Given the description of an element on the screen output the (x, y) to click on. 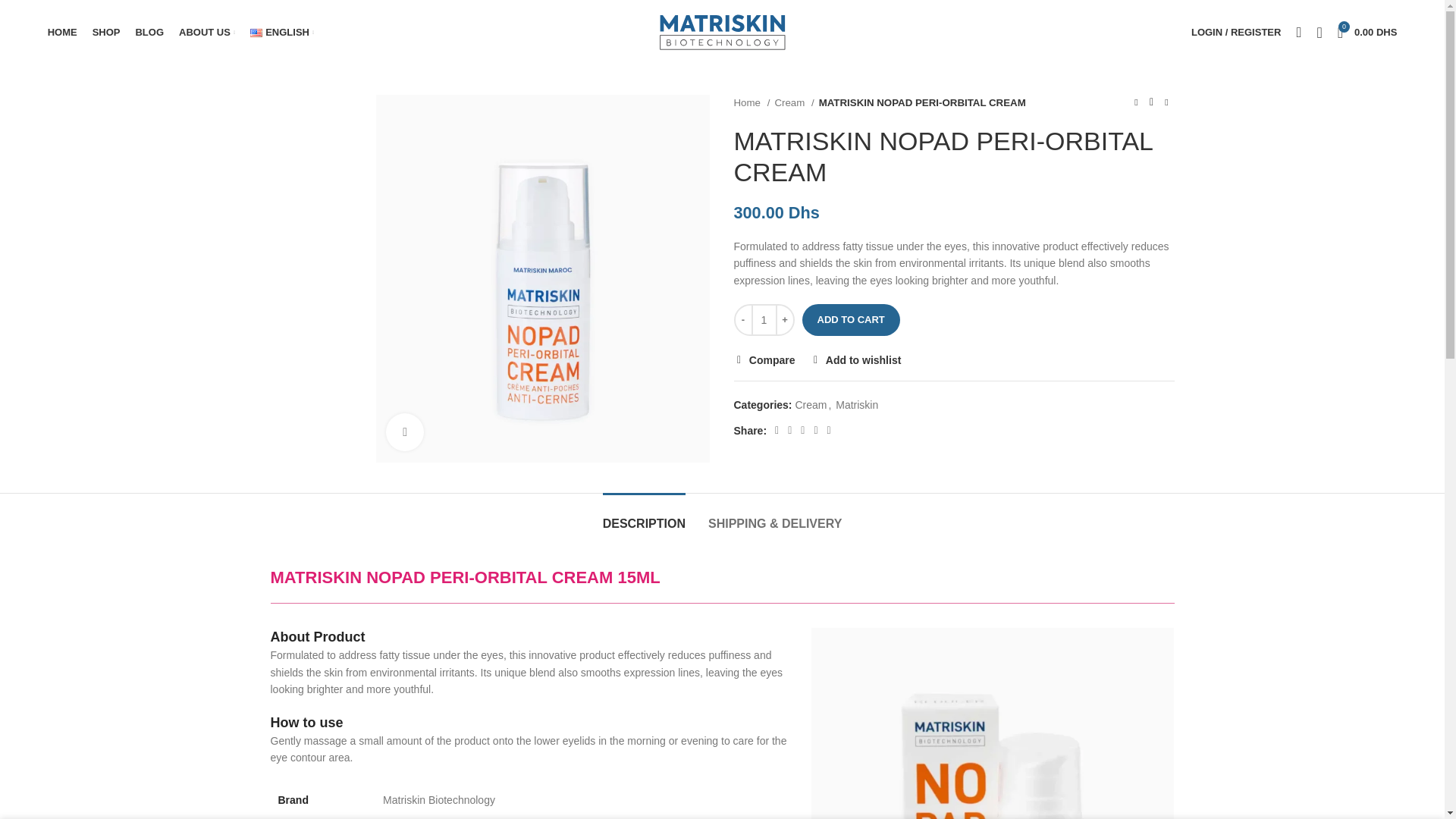
DESCRIPTION (643, 515)
Matriskin (856, 404)
Shopping cart (1367, 31)
Add to wishlist (1367, 31)
ENGLISH (855, 359)
HOME (282, 31)
ABOUT US (62, 31)
BLOG (207, 31)
MATRISKIN MA NOPAD PERI-ORBITAL CREAM (149, 31)
